Given the description of an element on the screen output the (x, y) to click on. 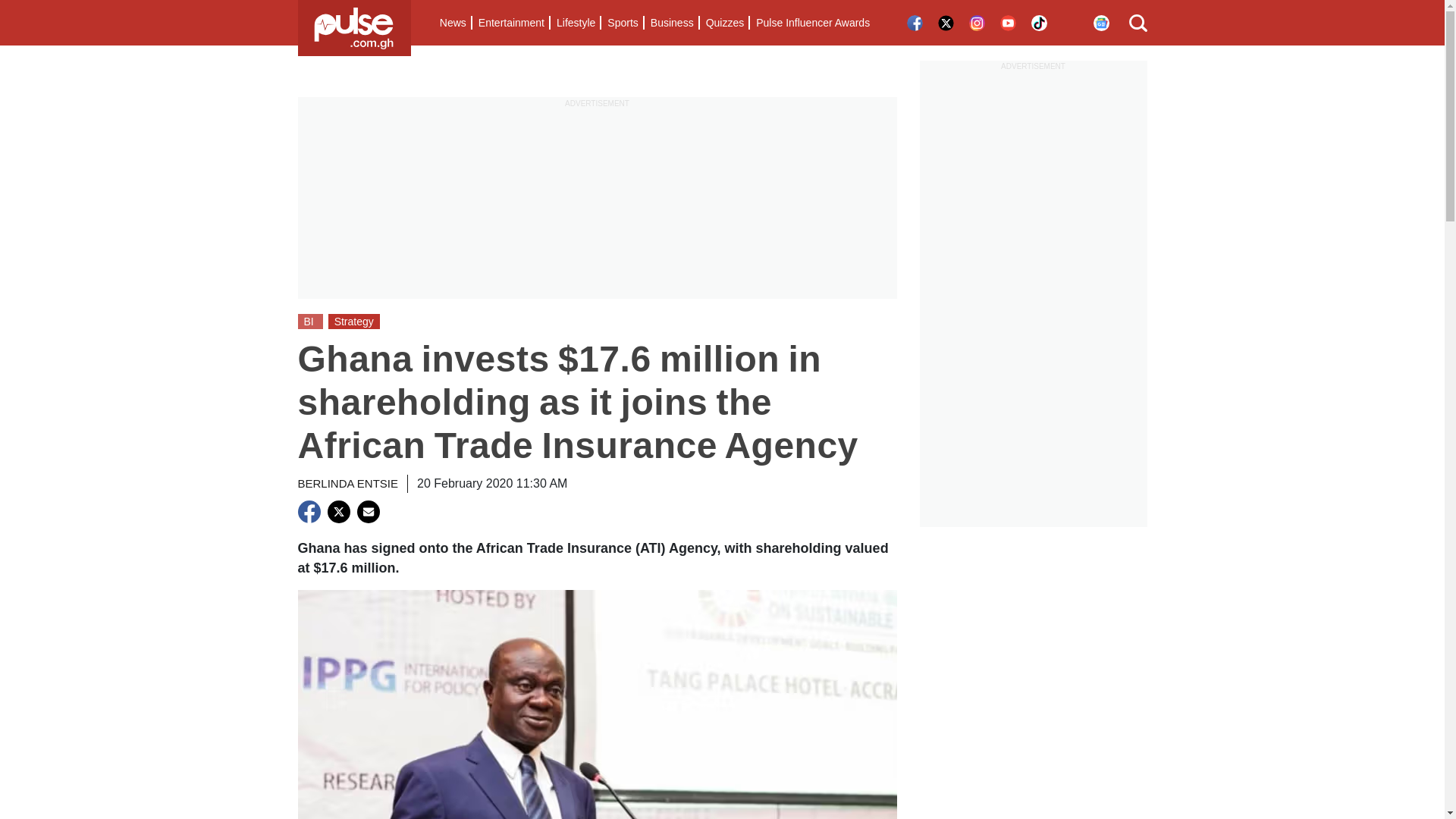
Business (672, 22)
Entertainment (510, 22)
Sports (622, 22)
Lifestyle (575, 22)
